Given the description of an element on the screen output the (x, y) to click on. 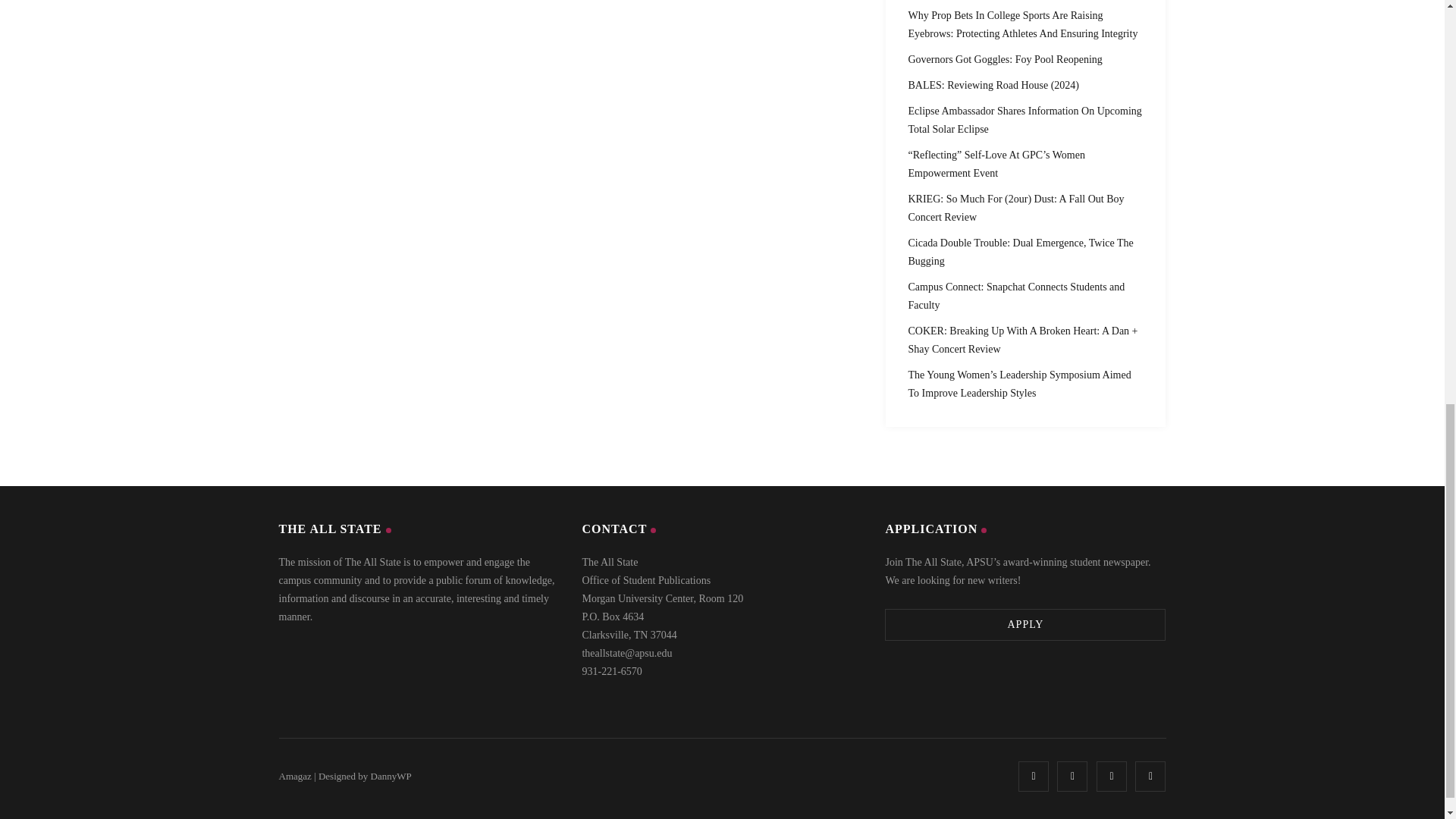
Governors Got Goggles: Foy Pool Reopening (1005, 59)
